Given the description of an element on the screen output the (x, y) to click on. 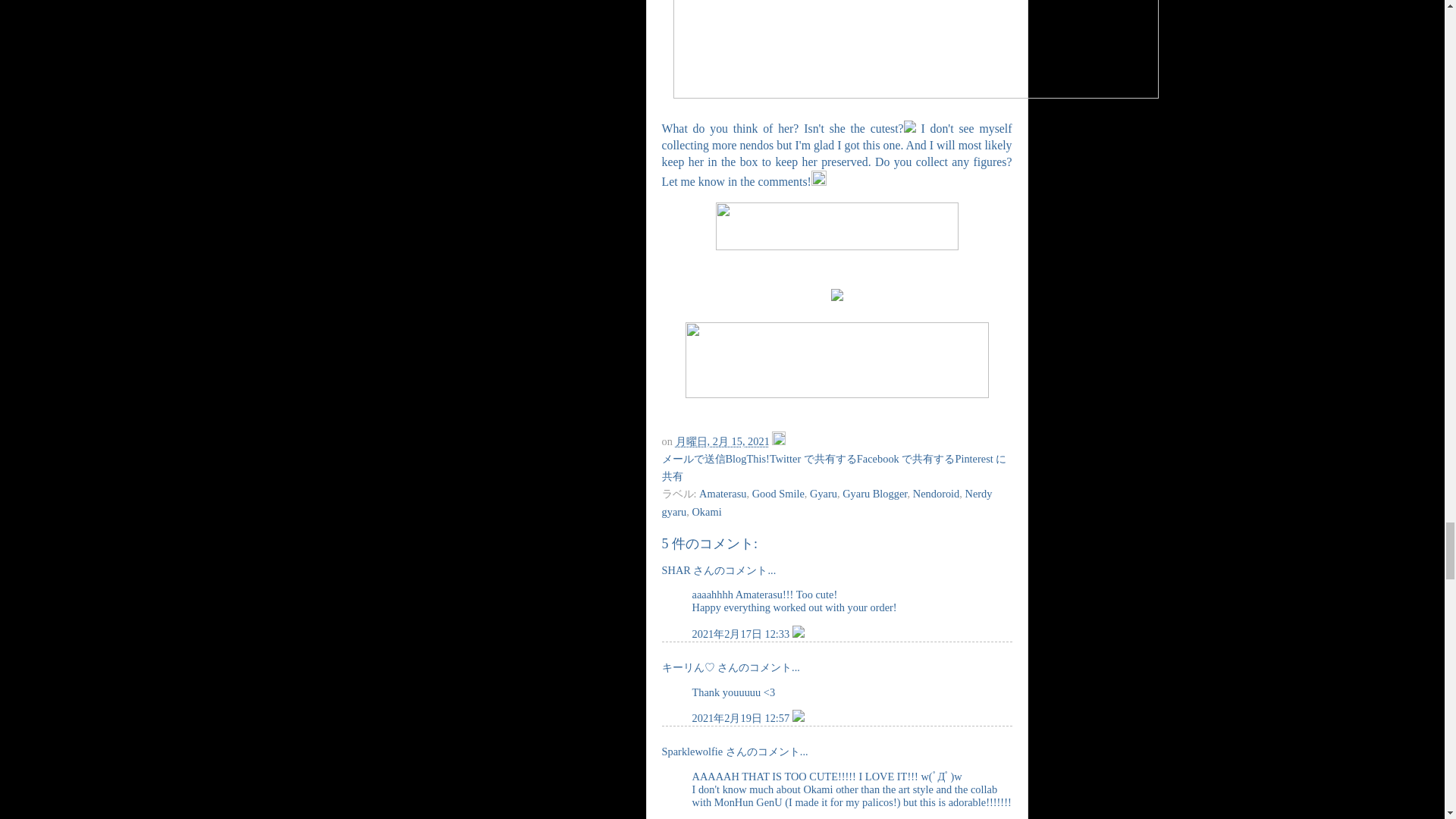
Gyaru (823, 493)
comment permalink (741, 717)
Gyaru Blogger (875, 493)
comment permalink (741, 633)
BlogThis! (746, 458)
Okami (705, 511)
Nerdy gyaru (826, 501)
Amaterasu (721, 493)
Good Smile (778, 493)
Nendoroid (935, 493)
permanent link (721, 440)
BlogThis! (746, 458)
